Given the description of an element on the screen output the (x, y) to click on. 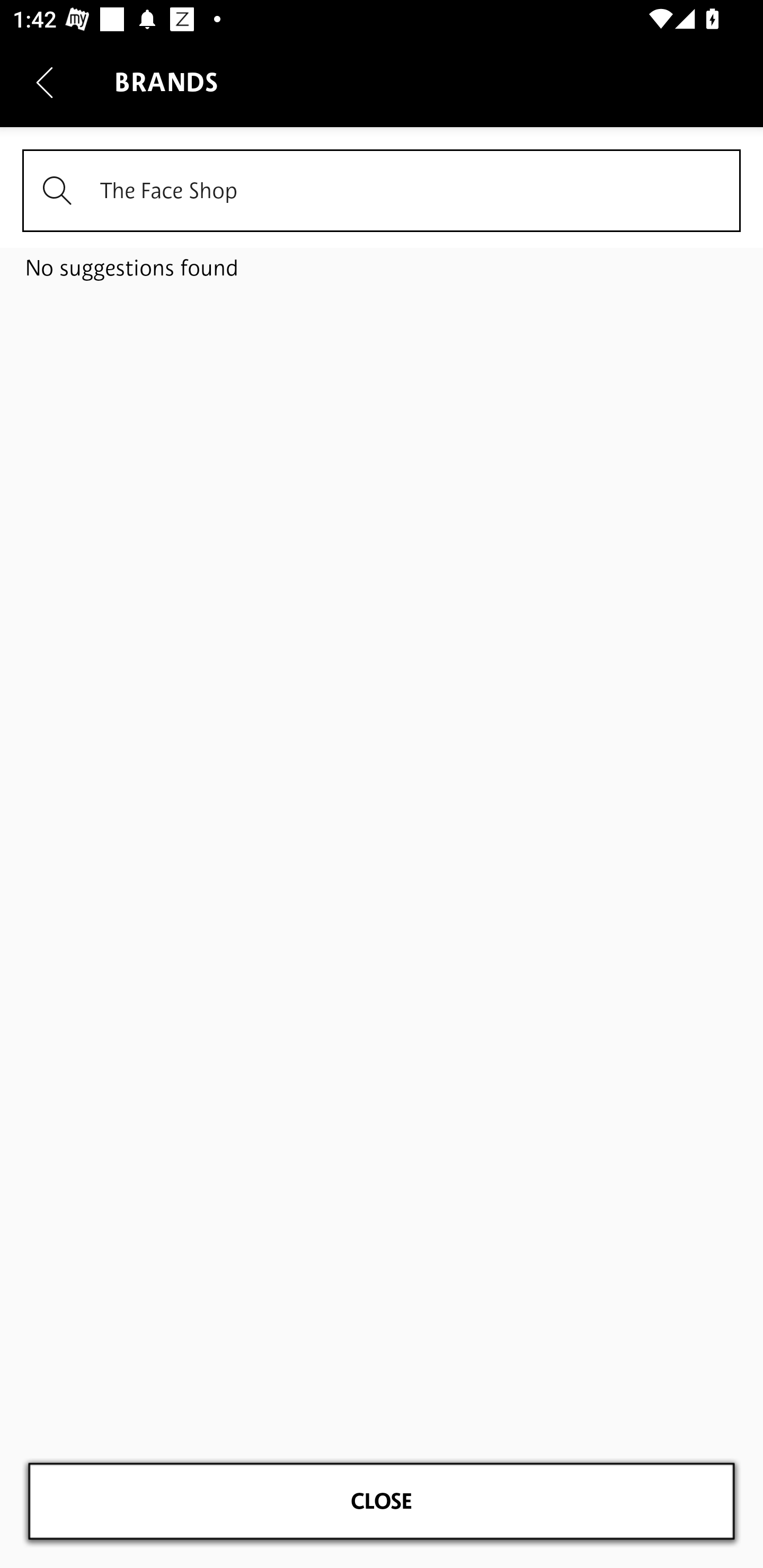
Navigate up (44, 82)
The Face Shop (381, 190)
BRANDS (381, 246)
CLOSE (381, 1501)
